Given the description of an element on the screen output the (x, y) to click on. 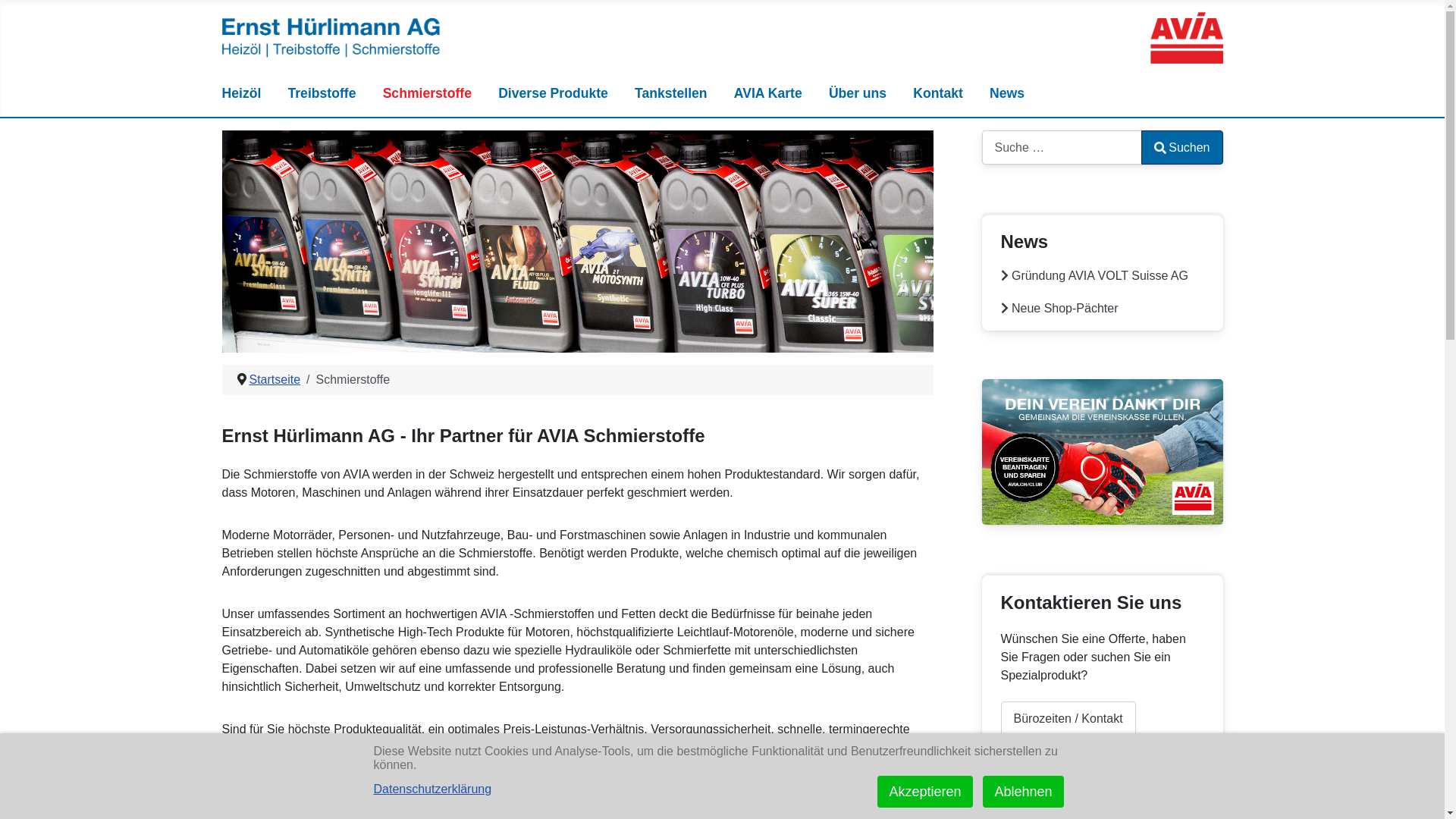
Treibstoffe Element type: text (329, 92)
Ansprechpersonen Element type: text (1064, 770)
Diverse Produkte Element type: text (559, 92)
Akzeptieren Element type: text (924, 791)
Kontakt Element type: text (944, 92)
Home Element type: hover (721, 36)
Suchen Element type: text (1181, 147)
Tankstellen Element type: text (677, 92)
Schmierstoffe Element type: text (433, 92)
AVIA Vereinskarte Element type: hover (1101, 450)
Startseite Element type: text (274, 379)
AVIA Karte Element type: text (774, 92)
Ablehnen Element type: text (1022, 791)
News Element type: text (1013, 92)
